Given the description of an element on the screen output the (x, y) to click on. 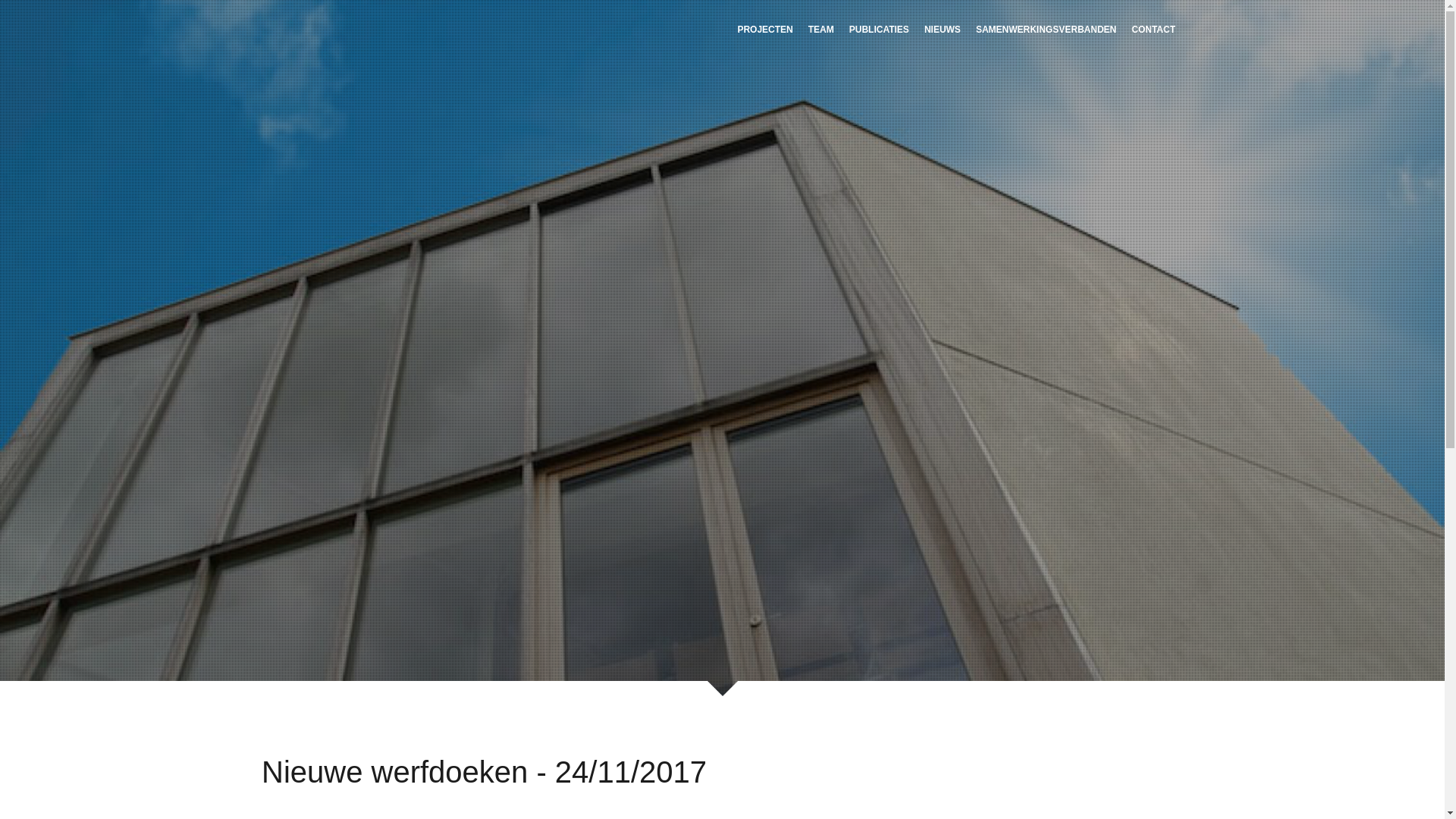
PUBLICATIES Element type: text (878, 28)
NIEUWS Element type: text (942, 28)
TEAM Element type: text (820, 28)
CONTACT Element type: text (1153, 28)
SAMENWERKINGSVERBANDEN Element type: text (1045, 28)
PROJECTEN Element type: text (764, 28)
